Given the description of an element on the screen output the (x, y) to click on. 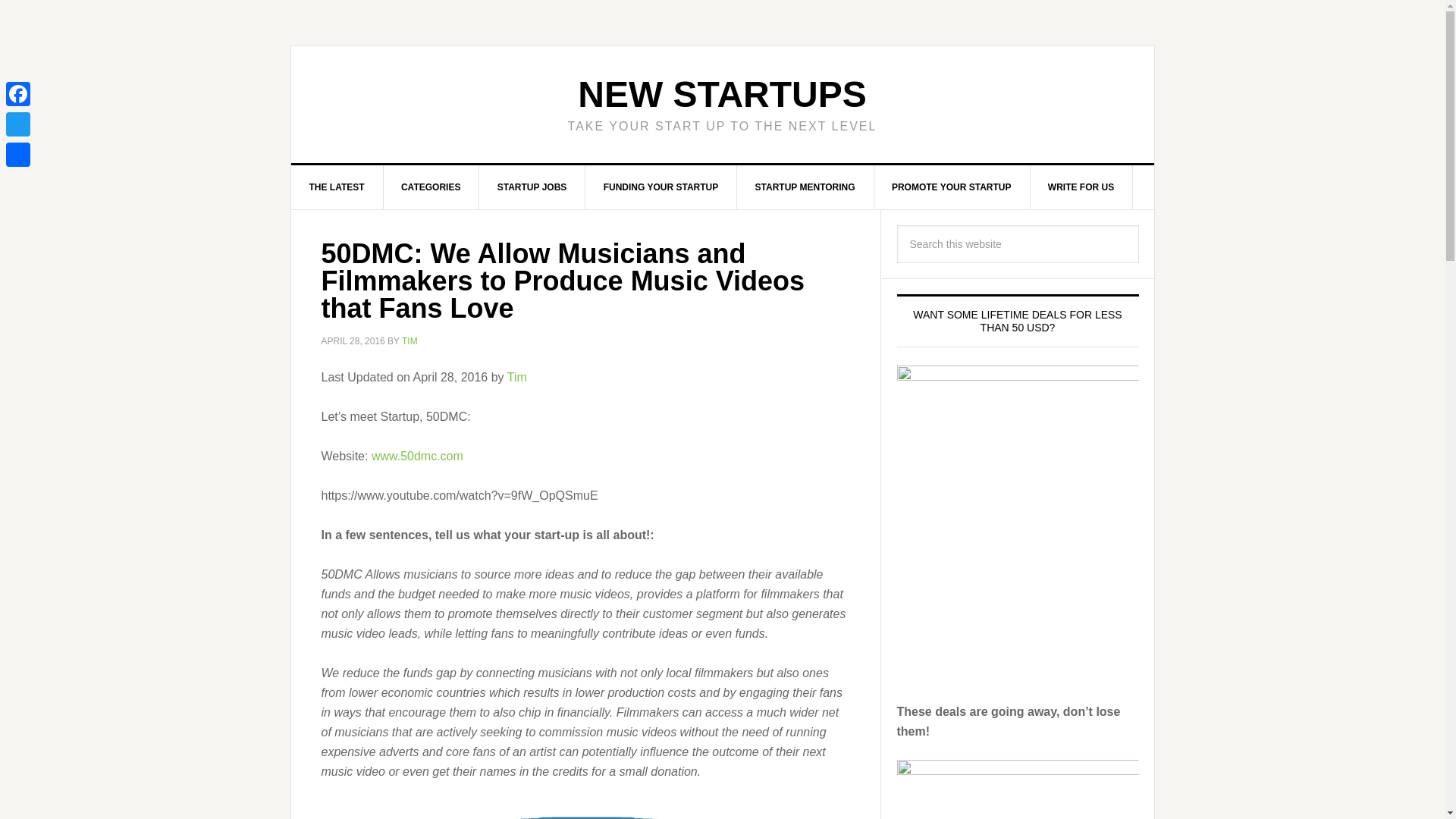
www.50dmc.com (417, 454)
TIM (409, 340)
THE LATEST (337, 187)
Twitter (17, 123)
WRITE FOR US (1080, 187)
PROMOTE YOUR STARTUP (951, 187)
Tim (516, 376)
CATEGORIES (430, 187)
FUNDING YOUR STARTUP (661, 187)
STARTUP MENTORING (805, 187)
STARTUP JOBS (532, 187)
NEW STARTUPS (722, 94)
